Given the description of an element on the screen output the (x, y) to click on. 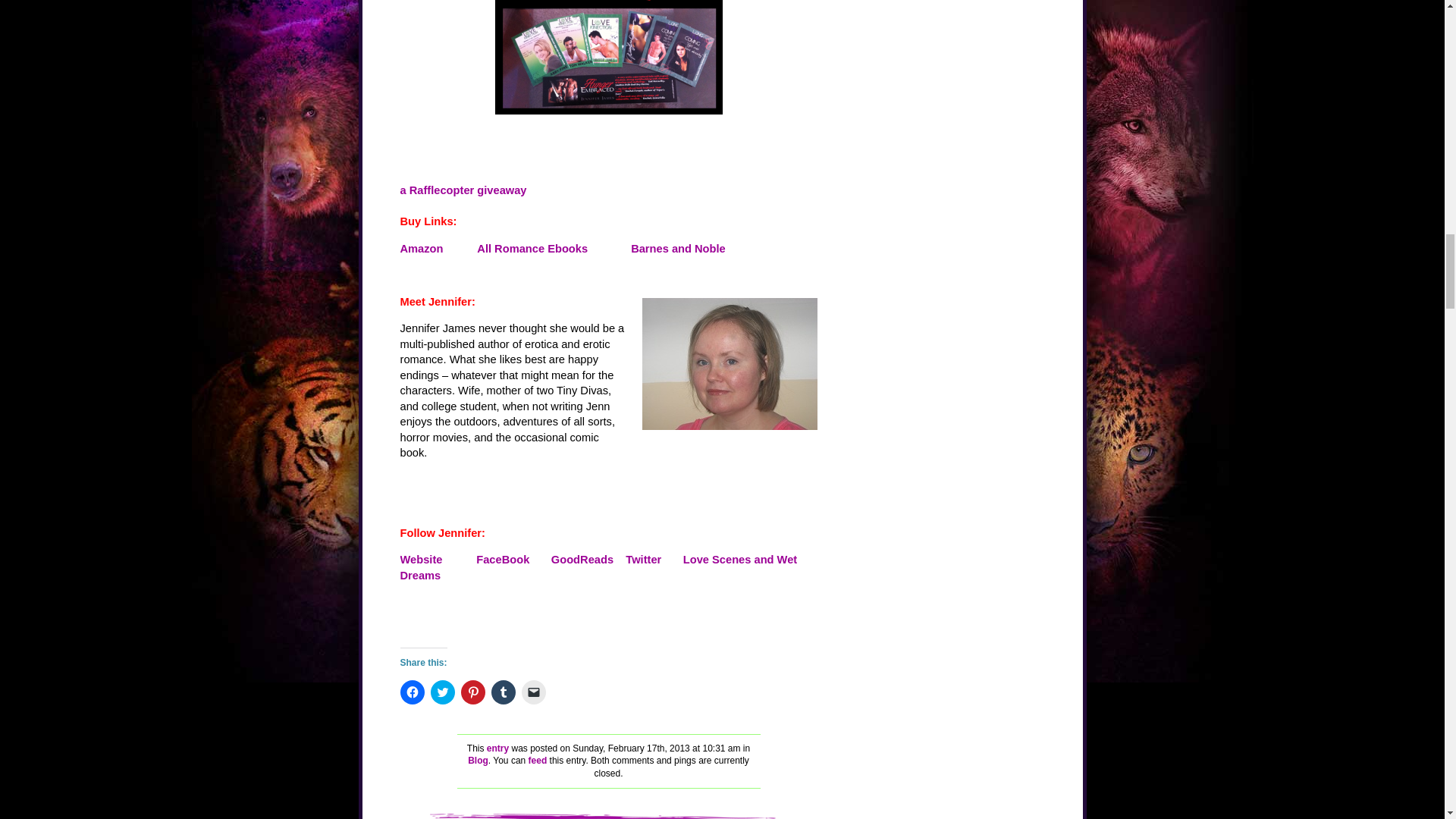
a Rafflecopter giveaway (463, 190)
Love Scenes and Wet Dreams  (598, 567)
All Romance Ebooks (532, 248)
FaceBook (502, 559)
GoodReads (581, 559)
Twitter (643, 559)
Amazon (422, 248)
Website (421, 559)
Barnes and Noble (677, 248)
